Given the description of an element on the screen output the (x, y) to click on. 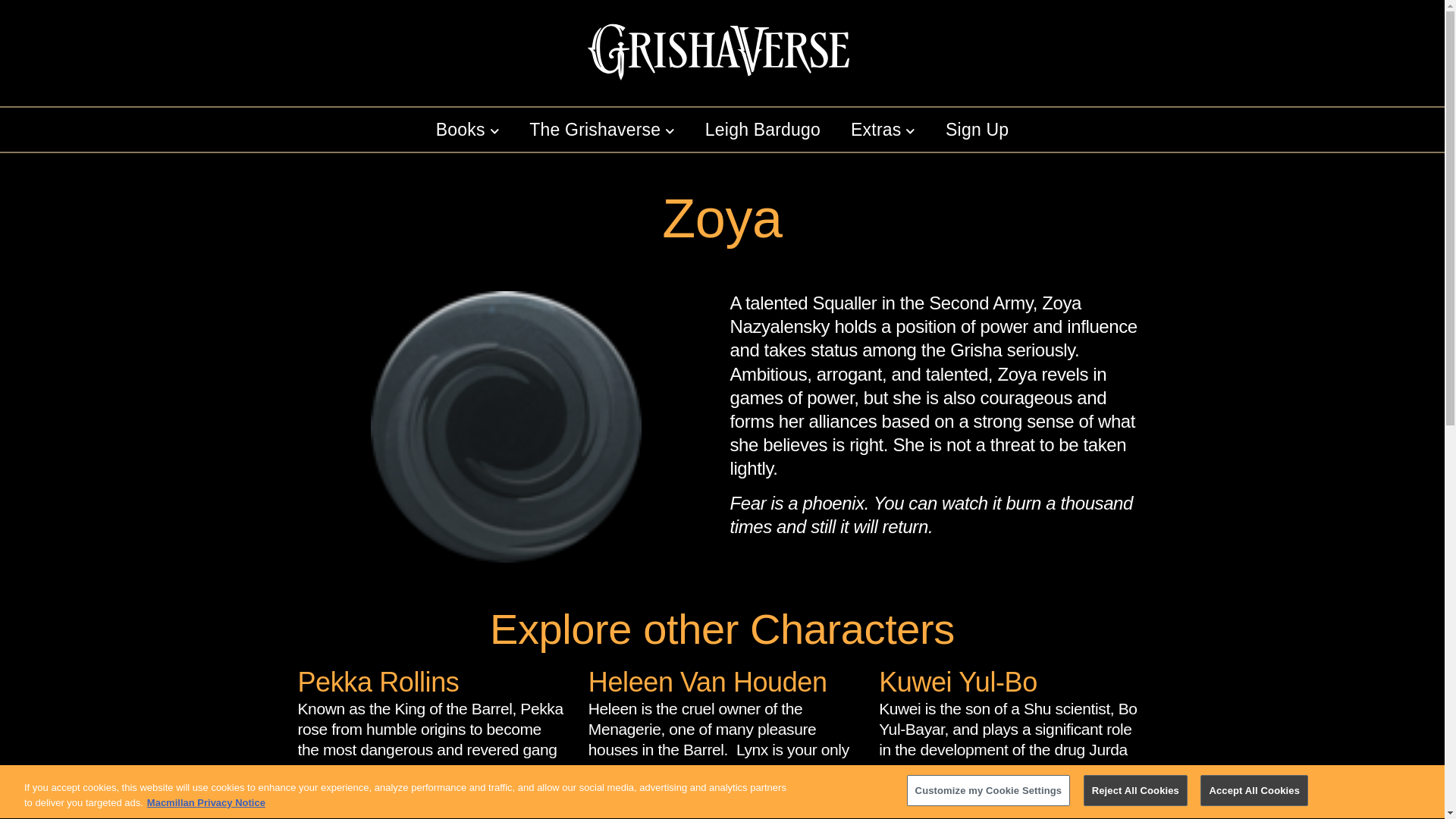
Extras (882, 129)
Sign Up (976, 129)
Books (467, 129)
The Grishaverse (601, 129)
Leigh Bardugo (762, 129)
